Given the description of an element on the screen output the (x, y) to click on. 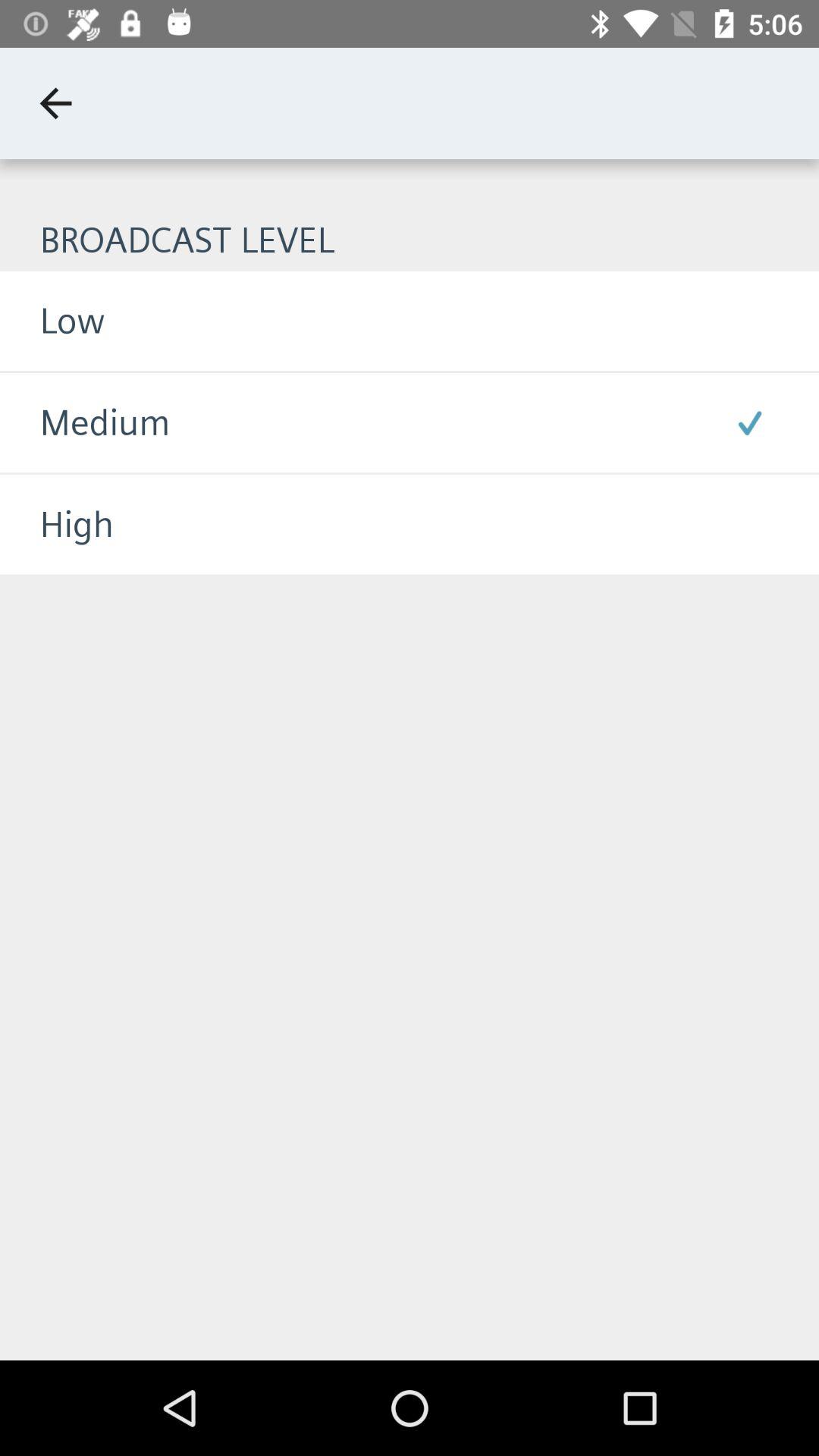
tap the high (56, 524)
